Given the description of an element on the screen output the (x, y) to click on. 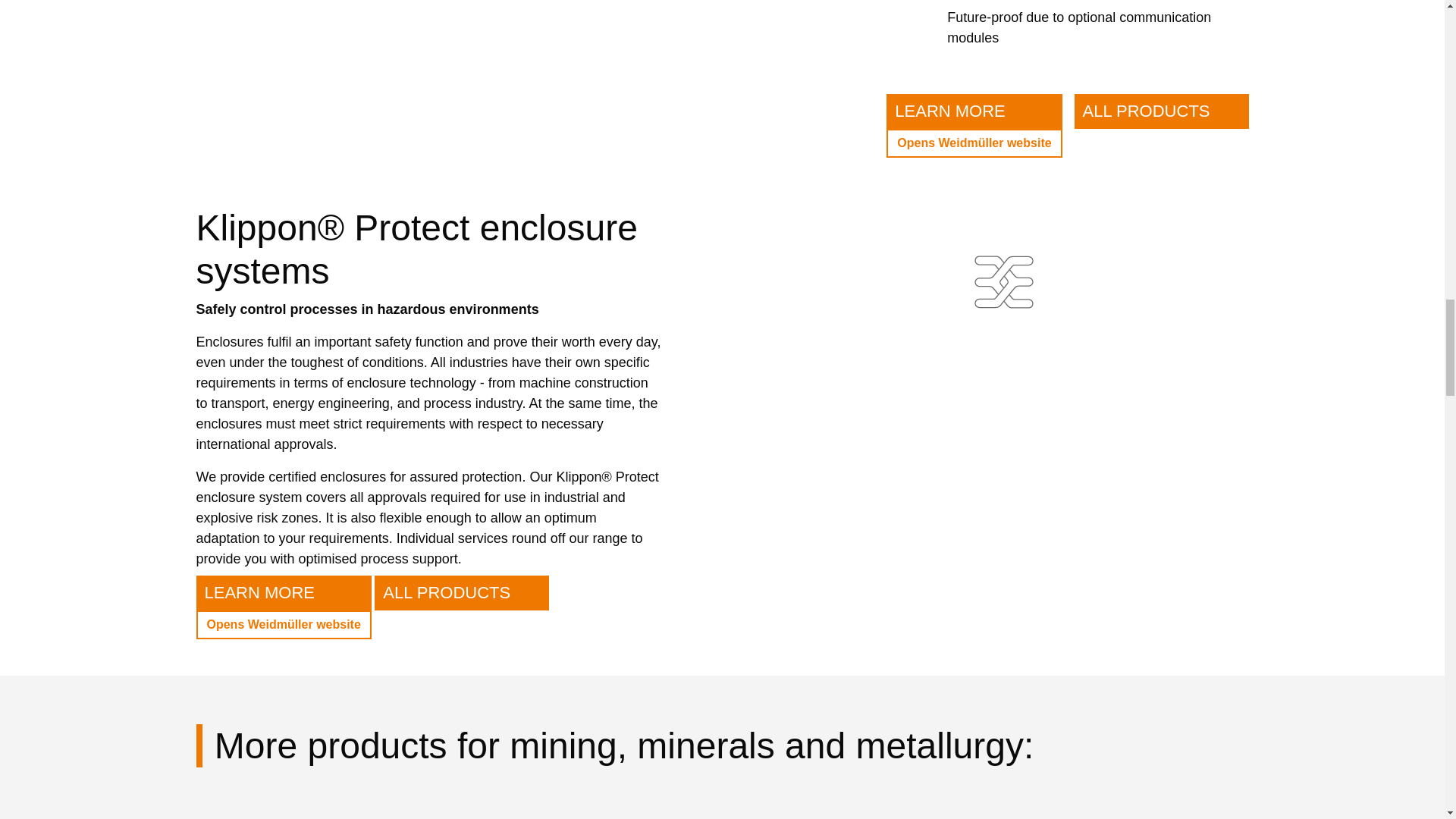
ALL PRODUCTS (1161, 126)
Analogue signal processing (327, 811)
ALL PRODUCTS (461, 592)
